Given the description of an element on the screen output the (x, y) to click on. 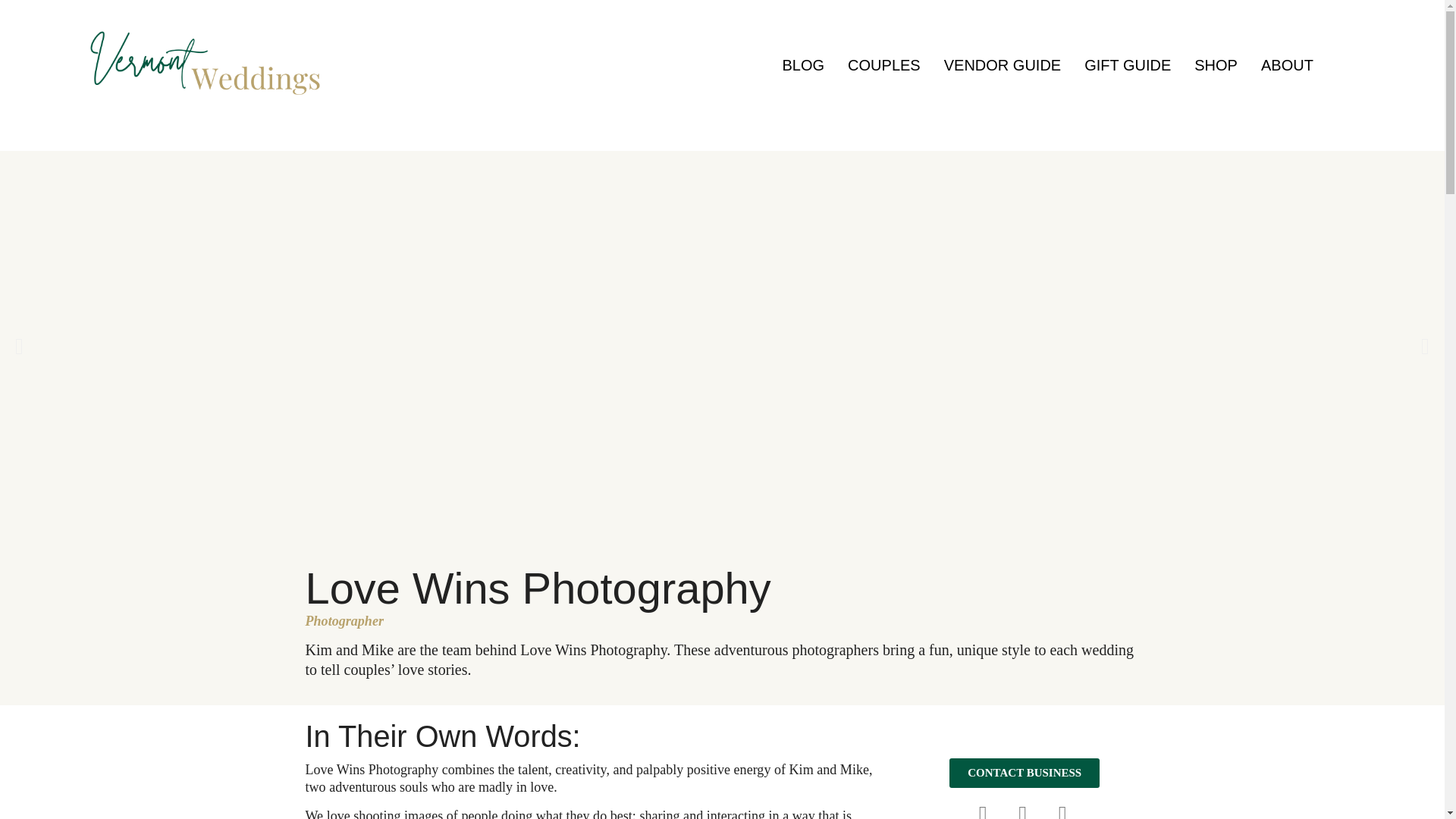
BLOG (803, 64)
CONTACT BUSINESS (1024, 772)
GIFT GUIDE (1127, 64)
VENDOR GUIDE (1002, 64)
SHOP (1215, 64)
ABOUT (1286, 64)
COUPLES (883, 64)
Photographer (343, 620)
